Given the description of an element on the screen output the (x, y) to click on. 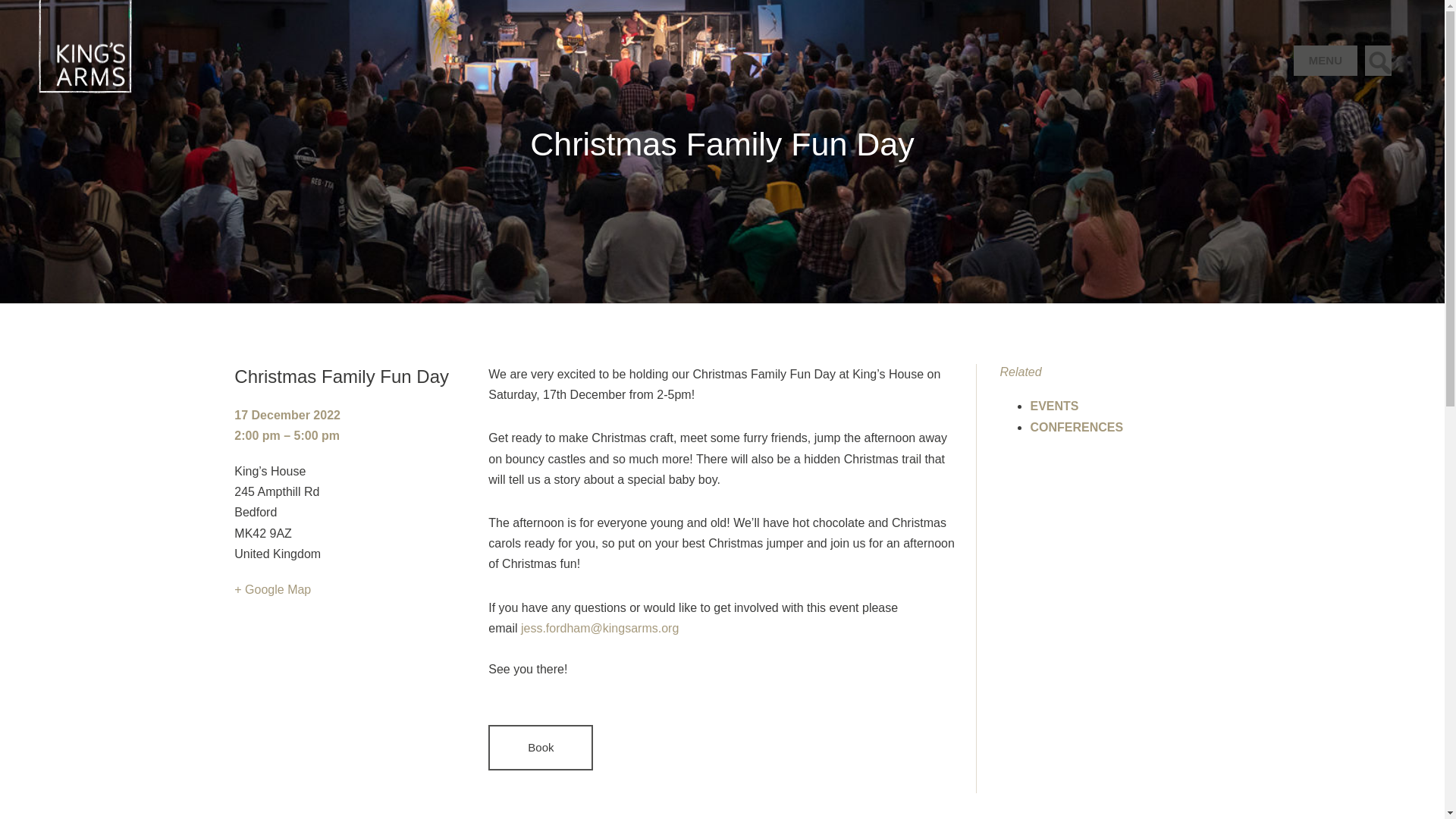
Kings Arms Church Home (66, 10)
Click to view a Google Map (272, 589)
MENU (1325, 60)
